Given the description of an element on the screen output the (x, y) to click on. 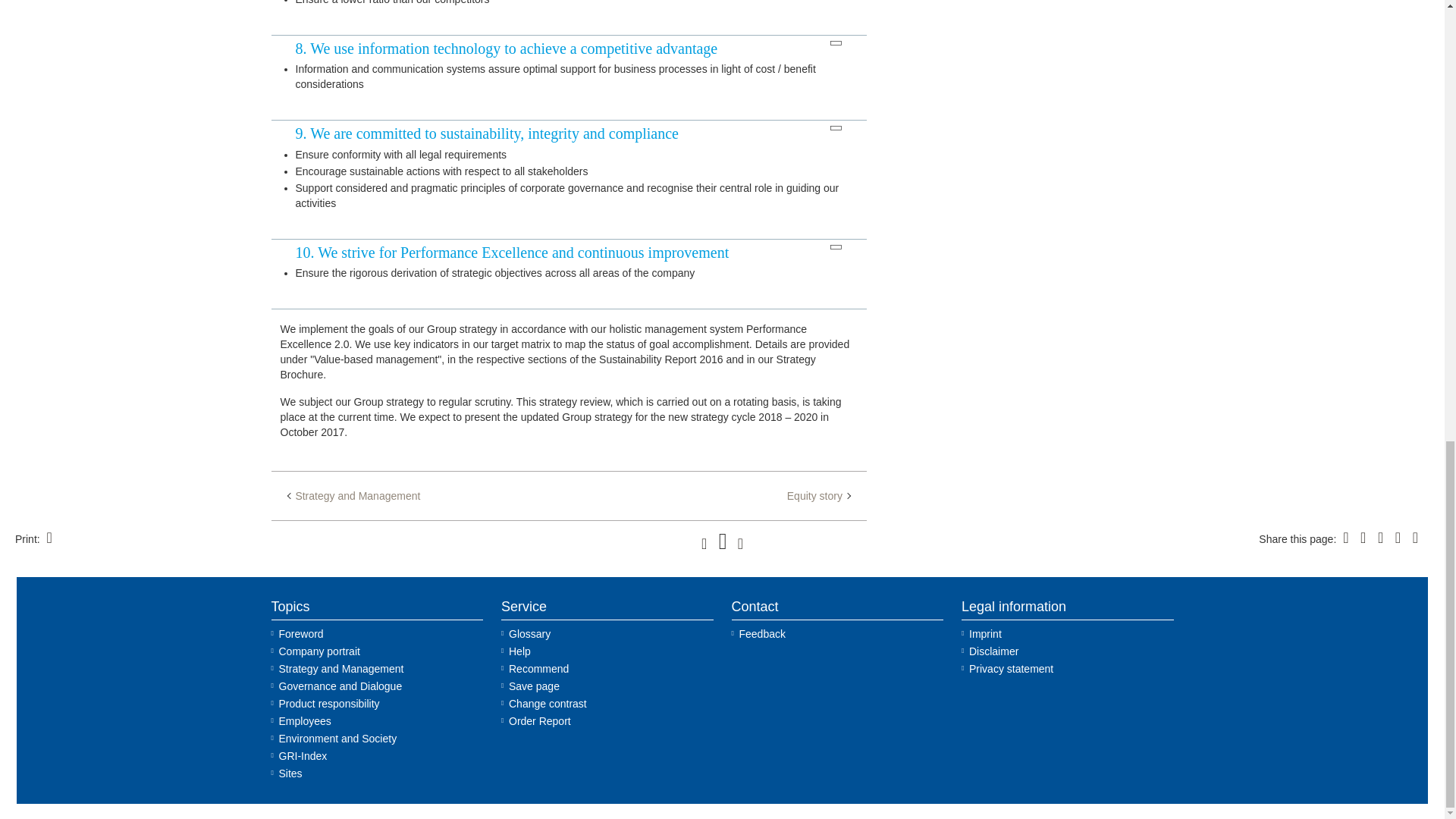
Strategy and Management (354, 495)
Equity story (818, 495)
